Given the description of an element on the screen output the (x, y) to click on. 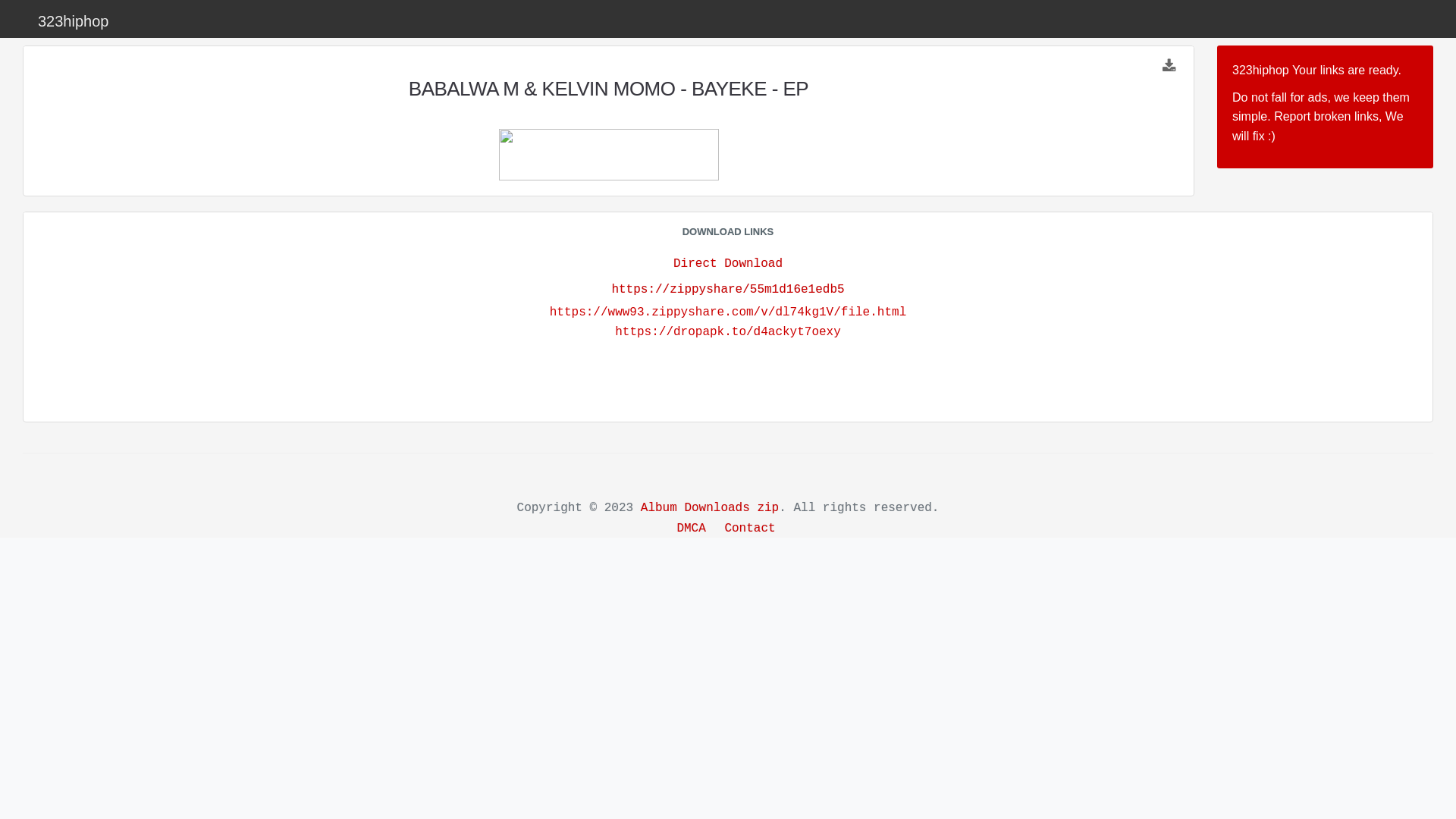
Album Downloads zip Element type: text (709, 507)
DMCA Element type: text (690, 528)
Direct Download Element type: text (727, 263)
https://dropapk.to/d4ackyt7oexy Element type: text (727, 331)
Download Links Element type: hover (1168, 66)
Contact Element type: text (749, 528)
323hiphop Element type: text (72, 20)
https://www93.zippyshare.com/v/dl74kg1V/file.html Element type: text (727, 312)
https://zippyshare/55m1d16e1edb5 Element type: text (727, 289)
